Given the description of an element on the screen output the (x, y) to click on. 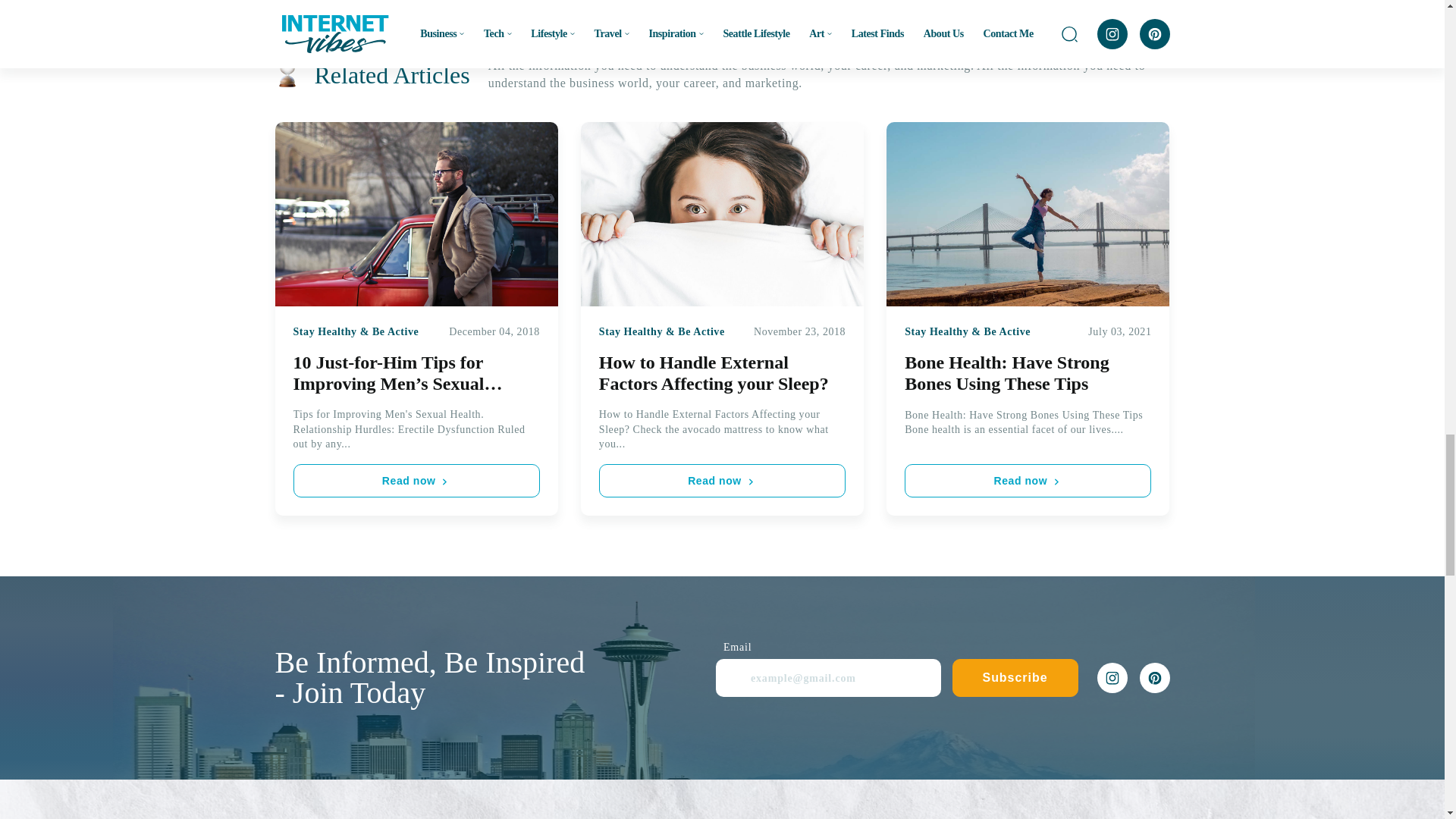
Subscribe (1015, 677)
